Given the description of an element on the screen output the (x, y) to click on. 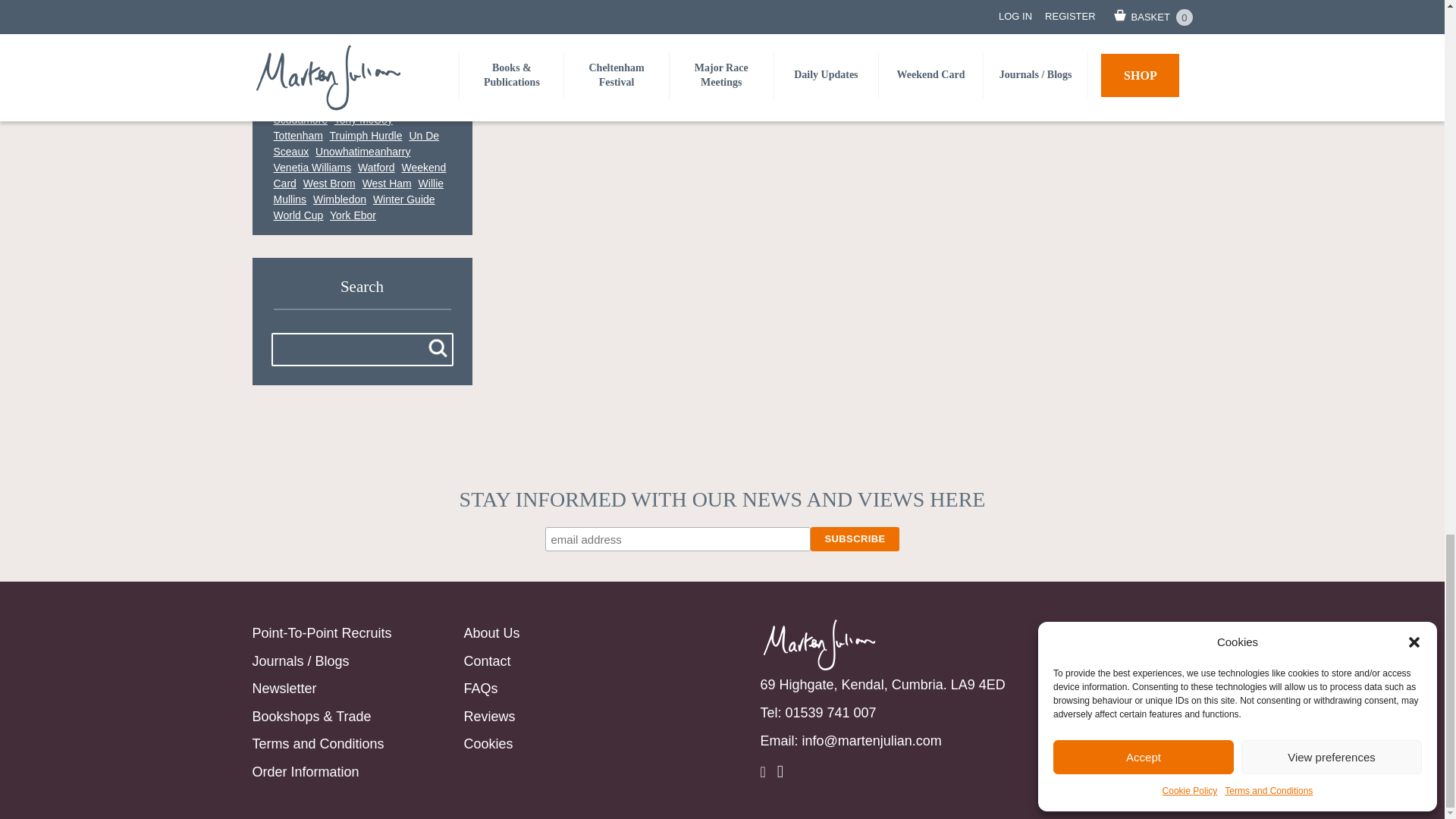
Search (437, 348)
Subscribe (854, 539)
